Given the description of an element on the screen output the (x, y) to click on. 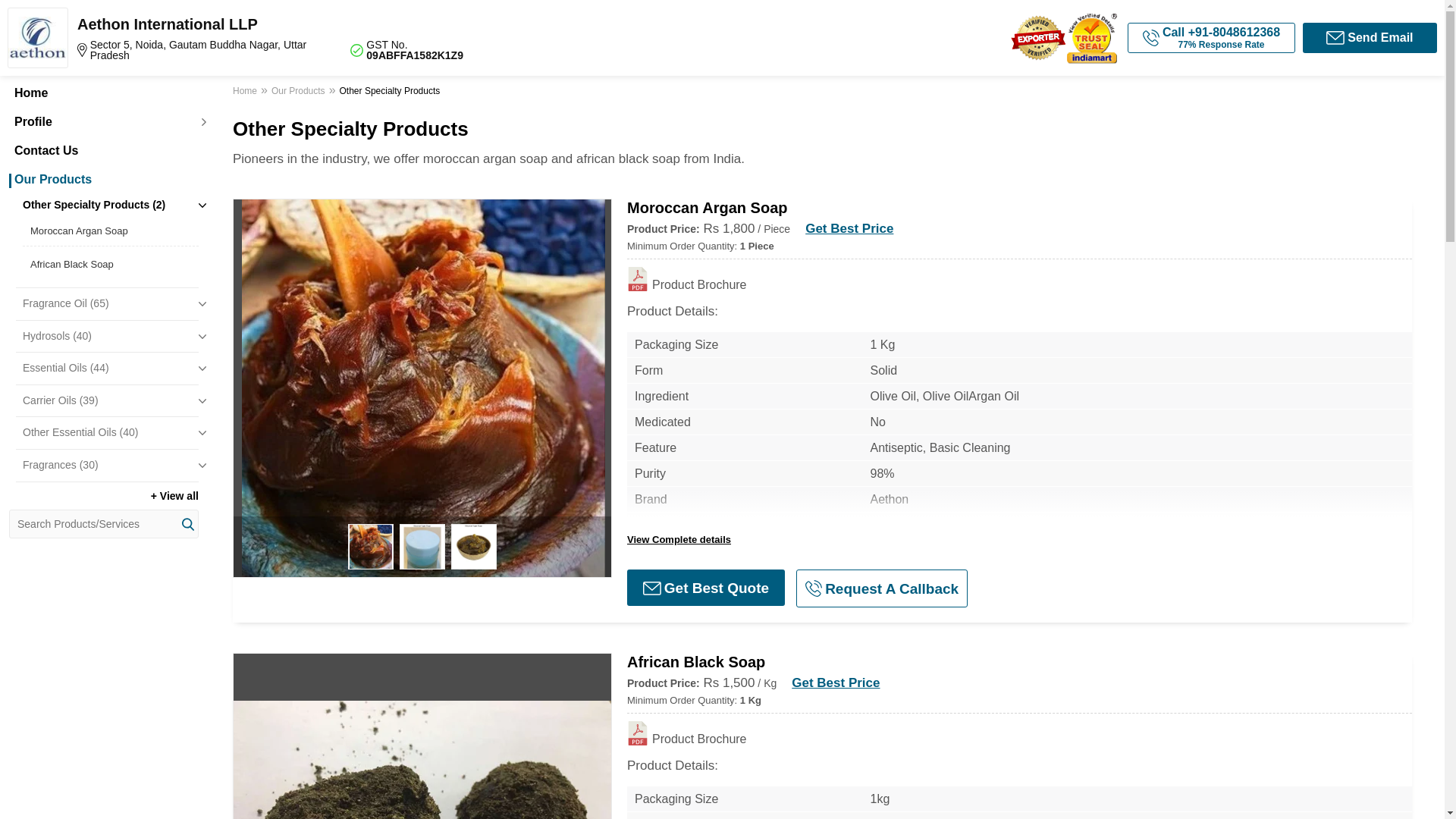
Moroccan Argan Soap (110, 231)
Contact Us (103, 150)
Home (103, 92)
Our Products (103, 179)
Profile (103, 121)
African Black Soap (110, 264)
